Given the description of an element on the screen output the (x, y) to click on. 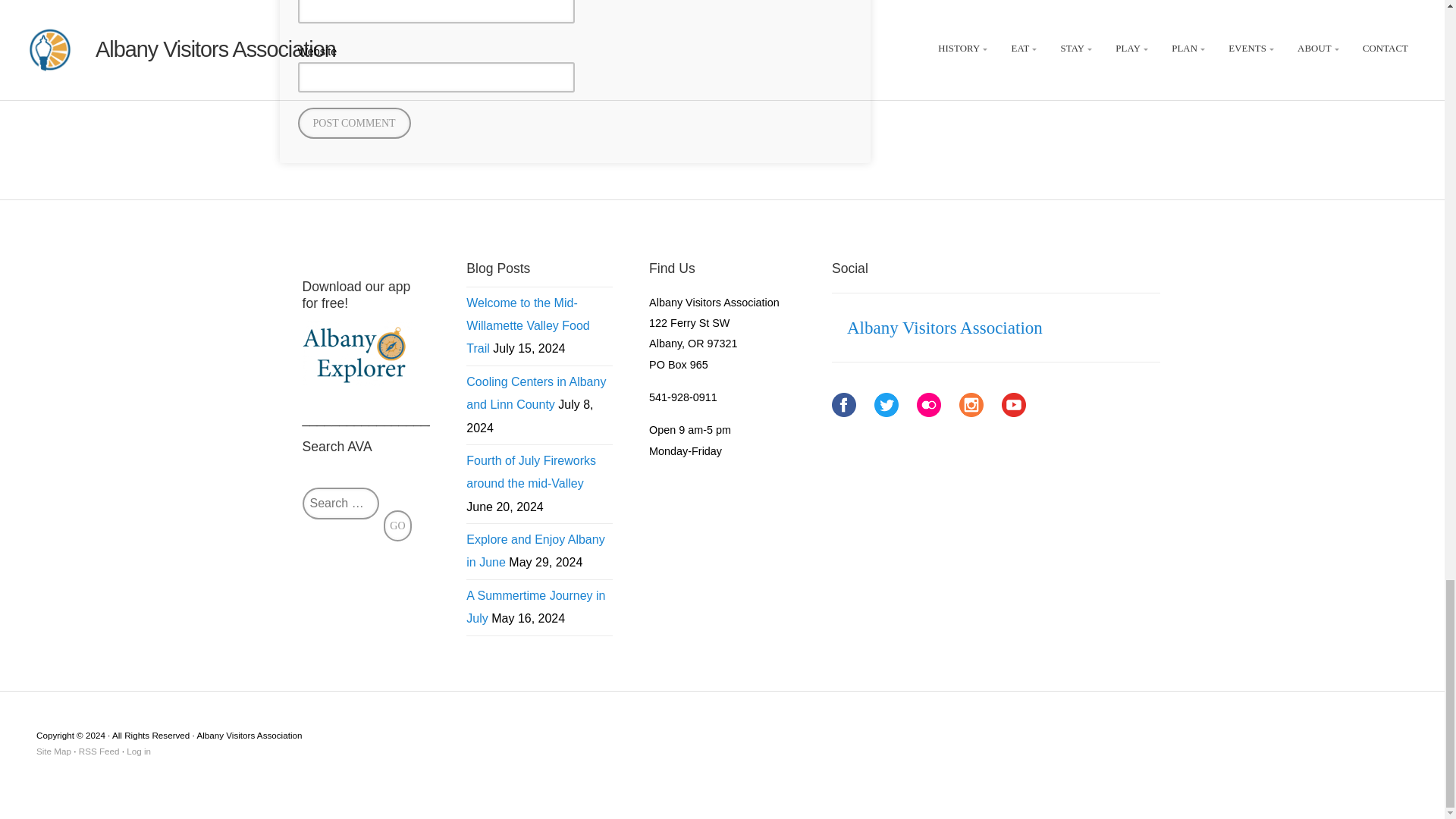
Post Comment (353, 122)
Go (398, 525)
